Given the description of an element on the screen output the (x, y) to click on. 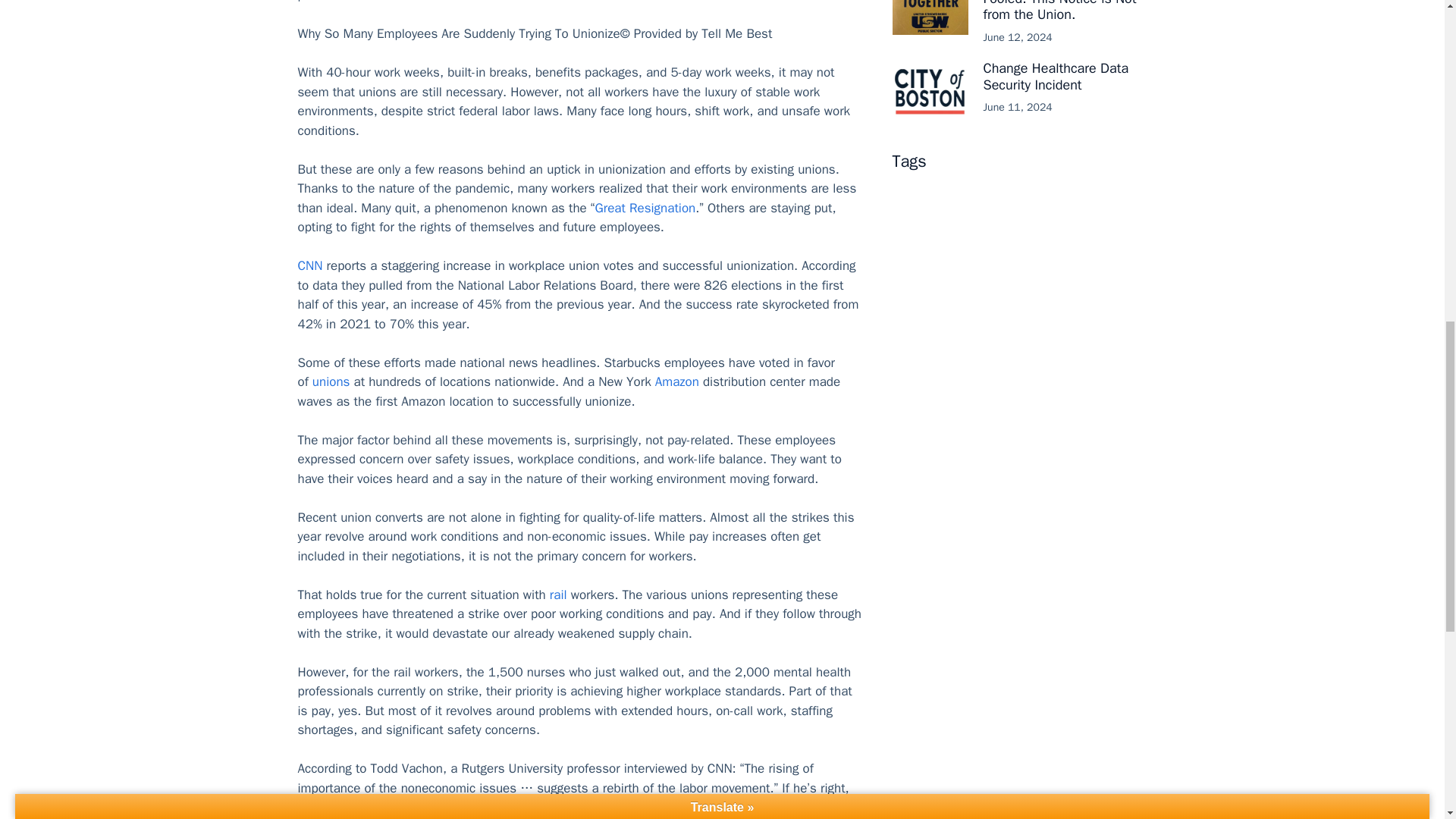
rail (558, 594)
rail strike (376, 1)
CNN (309, 265)
Great Resignation (644, 207)
unions (331, 381)
Amazon (676, 381)
Change Healthcare Data Security Incident (1055, 76)
